Given the description of an element on the screen output the (x, y) to click on. 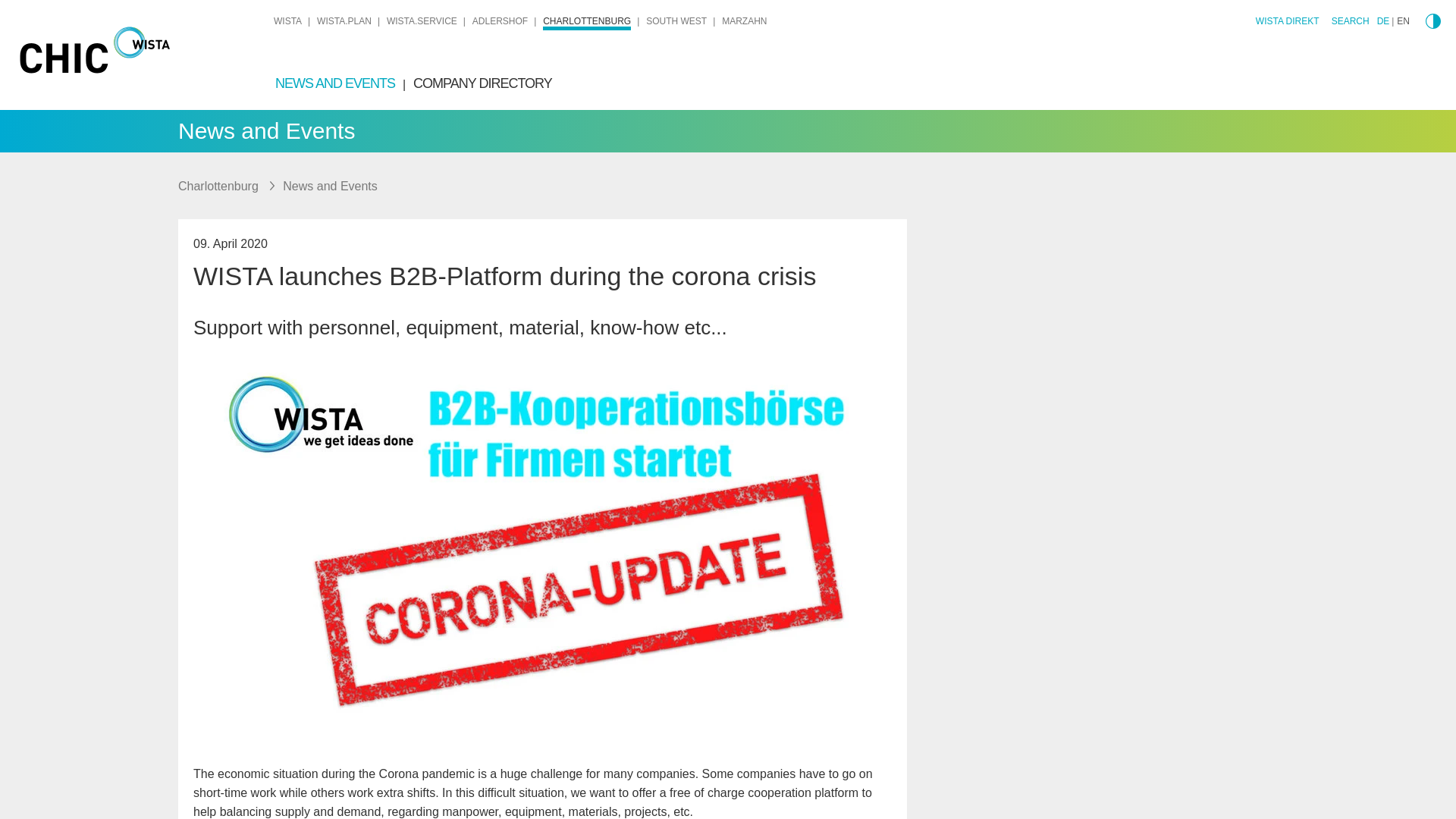
SOUTH WEST (676, 20)
COMPANY DIRECTORY (482, 82)
ADLERSHOF (499, 20)
Charlottenburg (219, 185)
EN (1402, 20)
CHARLOTTENBURG (586, 22)
DE (1383, 20)
Charlottenburger Innovations-Centrum (141, 57)
SEARCH (1351, 24)
News and Events (329, 185)
